Given the description of an element on the screen output the (x, y) to click on. 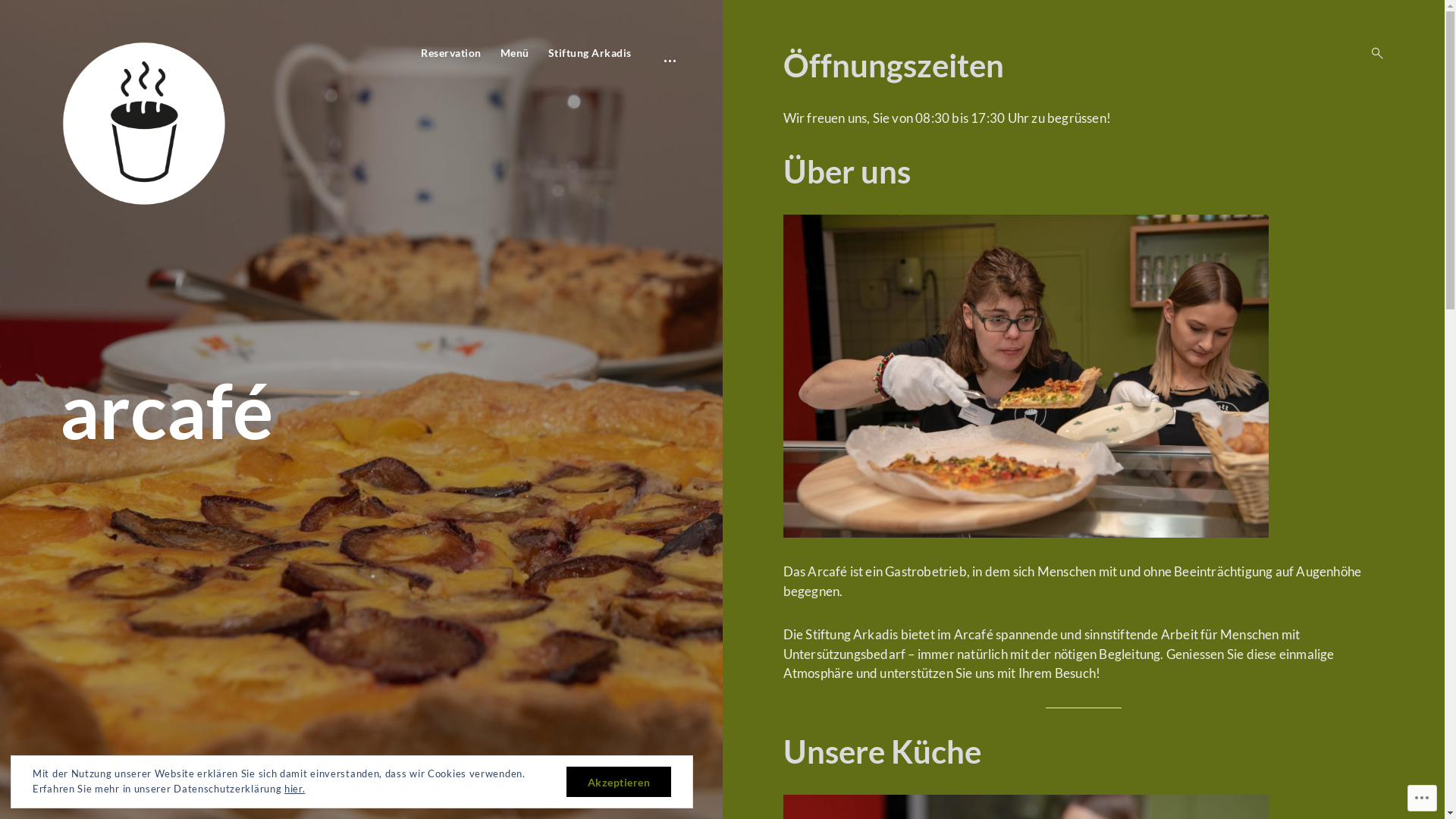
Suche Element type: text (15, 15)
Website bereitgestellt von WordPress.com Element type: text (153, 781)
Stiftung Arkadis Element type: text (588, 52)
hier. Element type: text (294, 788)
Reservation Element type: text (450, 52)
Akzeptieren Element type: text (618, 781)
